Given the description of an element on the screen output the (x, y) to click on. 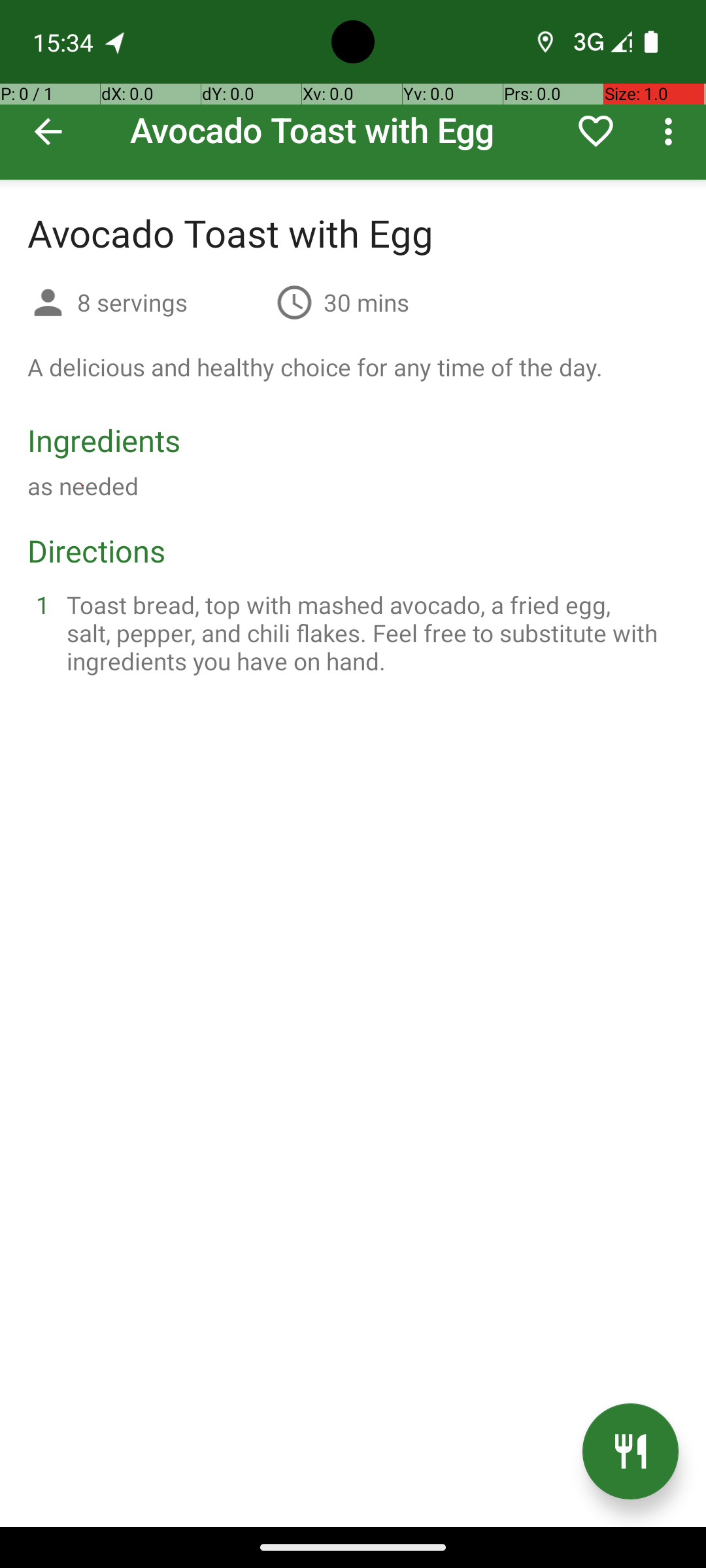
Toast bread, top with mashed avocado, a fried egg, salt, pepper, and chili flakes. Feel free to substitute with ingredients you have on hand. Element type: android.widget.TextView (368, 632)
